Given the description of an element on the screen output the (x, y) to click on. 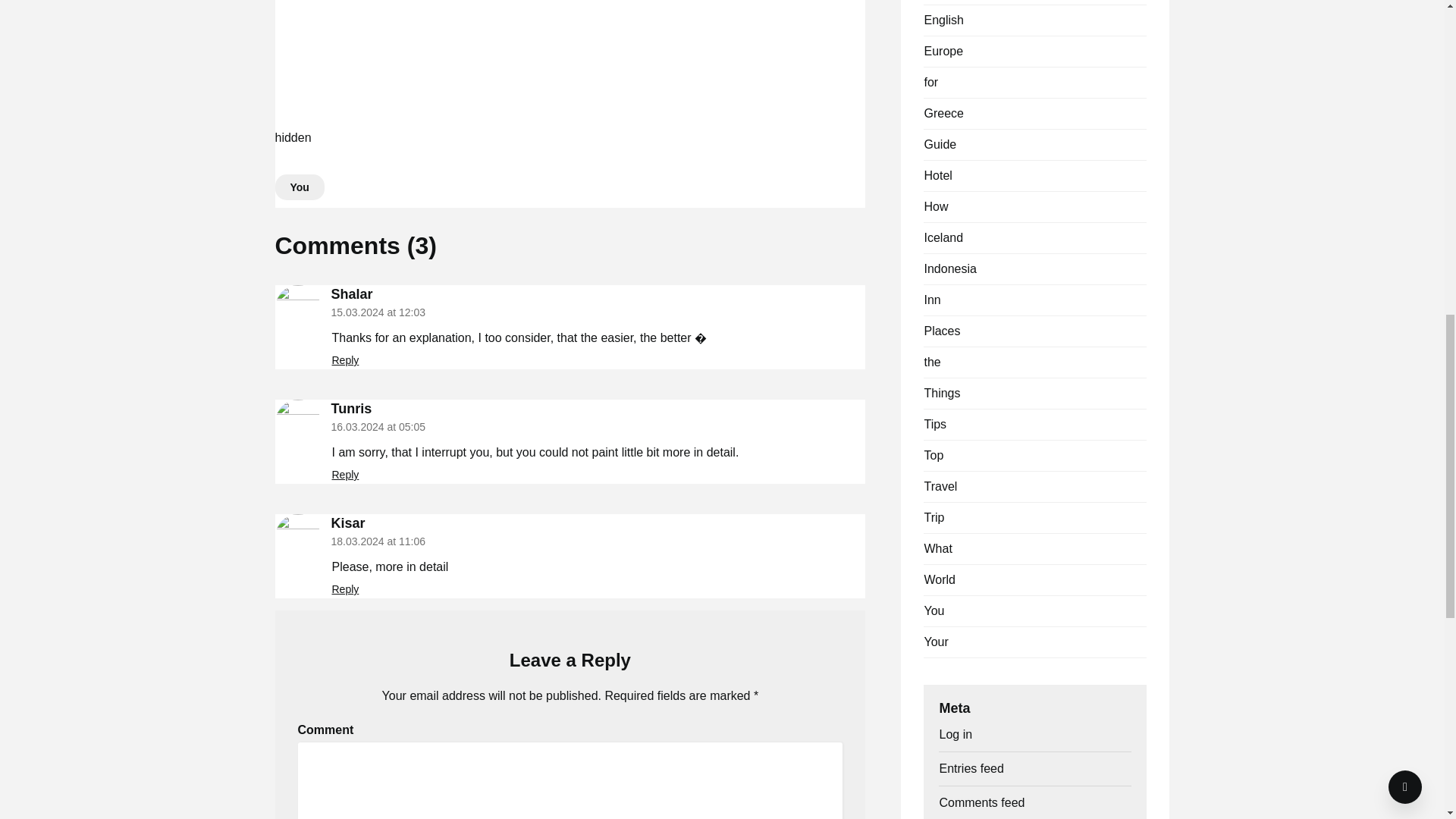
Places (941, 330)
How (935, 205)
Europe (942, 51)
the (931, 361)
Indonesia (949, 268)
Guide (939, 144)
Inn (931, 299)
Reply (345, 589)
Reply (345, 359)
Reply (345, 474)
Iceland (942, 237)
Greece (942, 113)
You (299, 186)
18.03.2024 at 11:06 (377, 541)
16.03.2024 at 05:05 (377, 426)
